Given the description of an element on the screen output the (x, y) to click on. 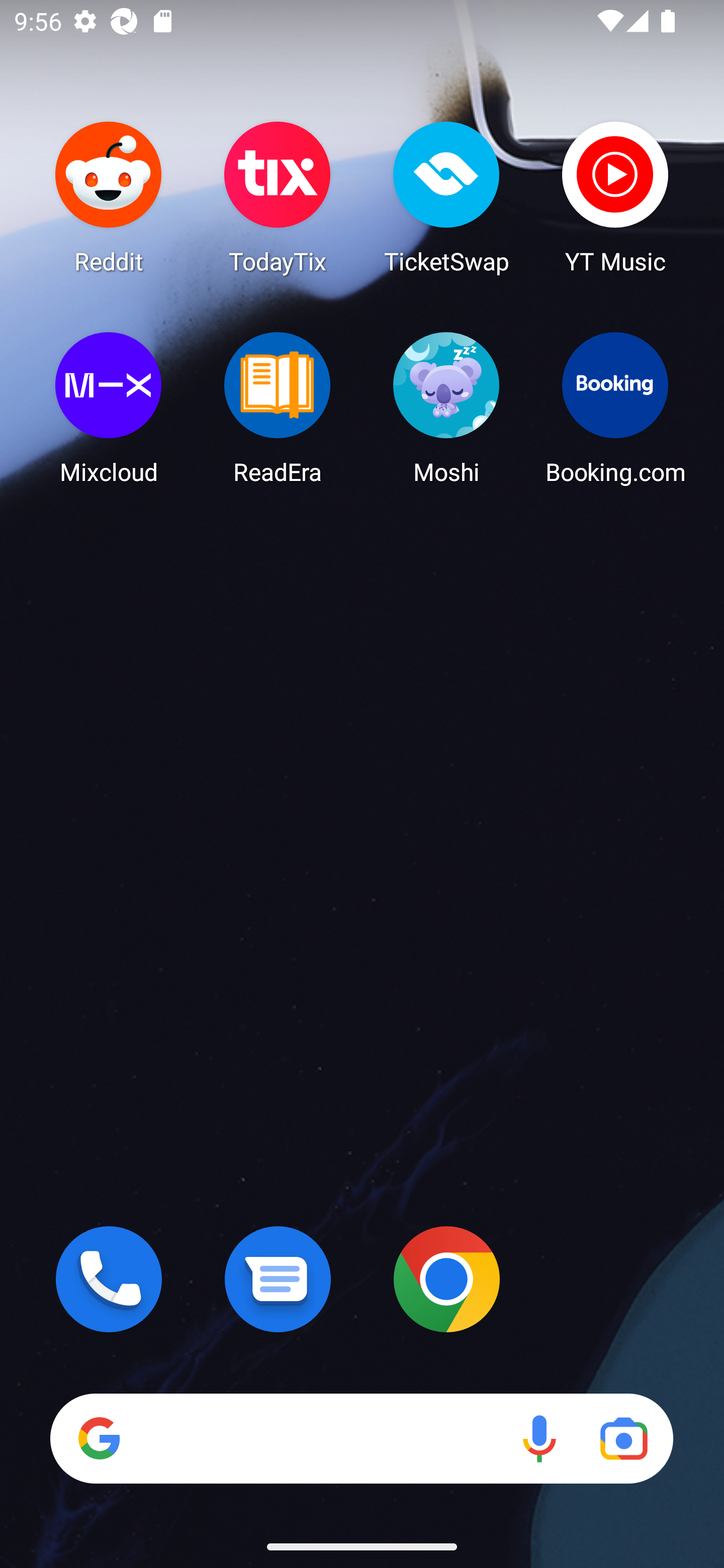
Reddit (108, 196)
TodayTix (277, 196)
TicketSwap (445, 196)
YT Music (615, 196)
Mixcloud (108, 407)
ReadEra (277, 407)
Moshi (445, 407)
Booking.com (615, 407)
Phone (108, 1279)
Messages (277, 1279)
Chrome (446, 1279)
Search Voice search Google Lens (361, 1438)
Voice search (539, 1438)
Google Lens (623, 1438)
